Given the description of an element on the screen output the (x, y) to click on. 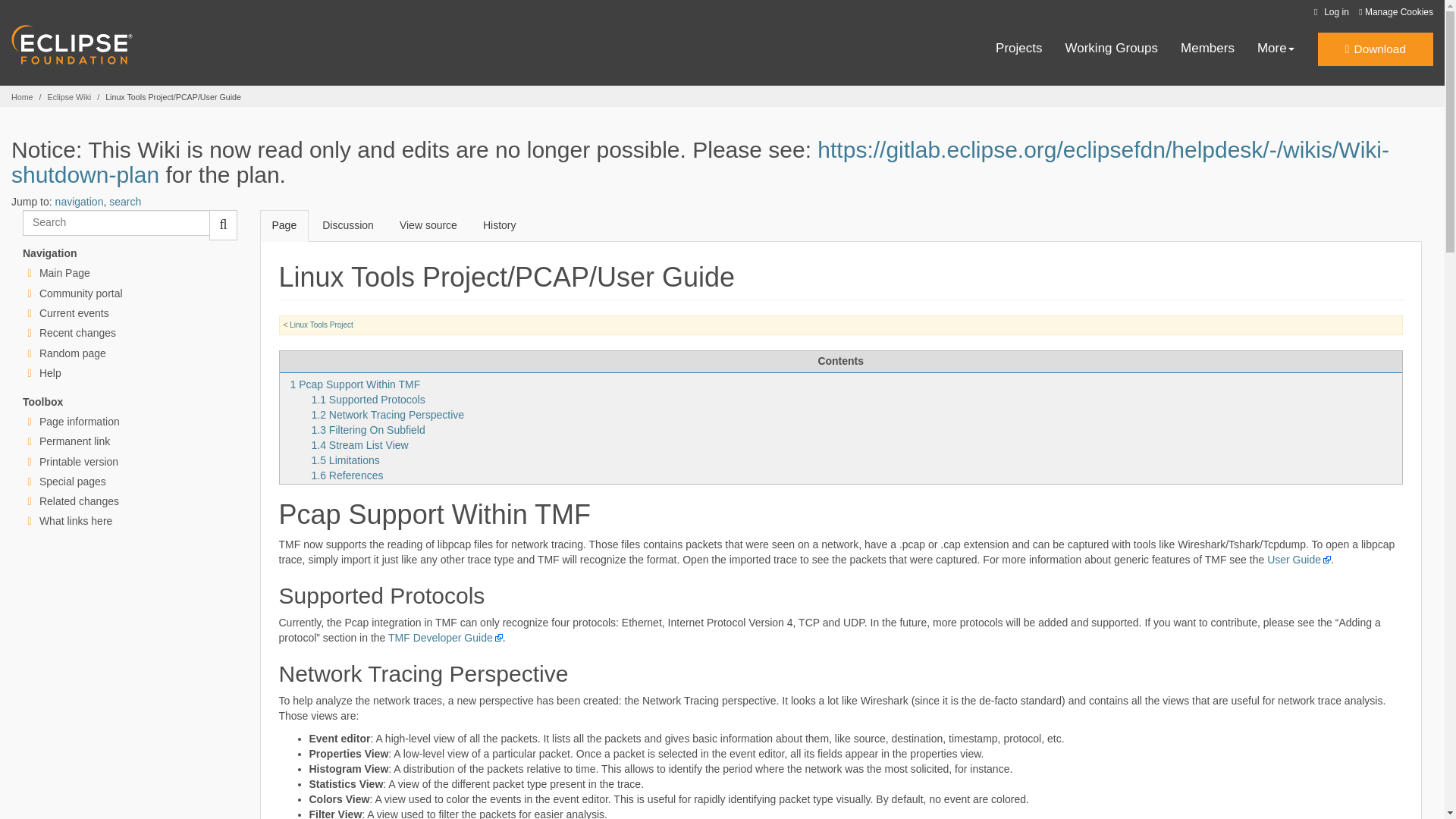
Members (1207, 48)
Search the pages for this text (222, 224)
The place to find out (50, 372)
Projects (1018, 48)
Manage Cookies (1395, 12)
More (1275, 48)
More information about this page (79, 421)
Working Groups (1111, 48)
Special:Search (116, 222)
Download (1374, 49)
Find background information on current events (74, 313)
Permanent link to this revision of the page (74, 440)
About the project, what you can do, where to find things (80, 293)
Log in (1328, 12)
